Given the description of an element on the screen output the (x, y) to click on. 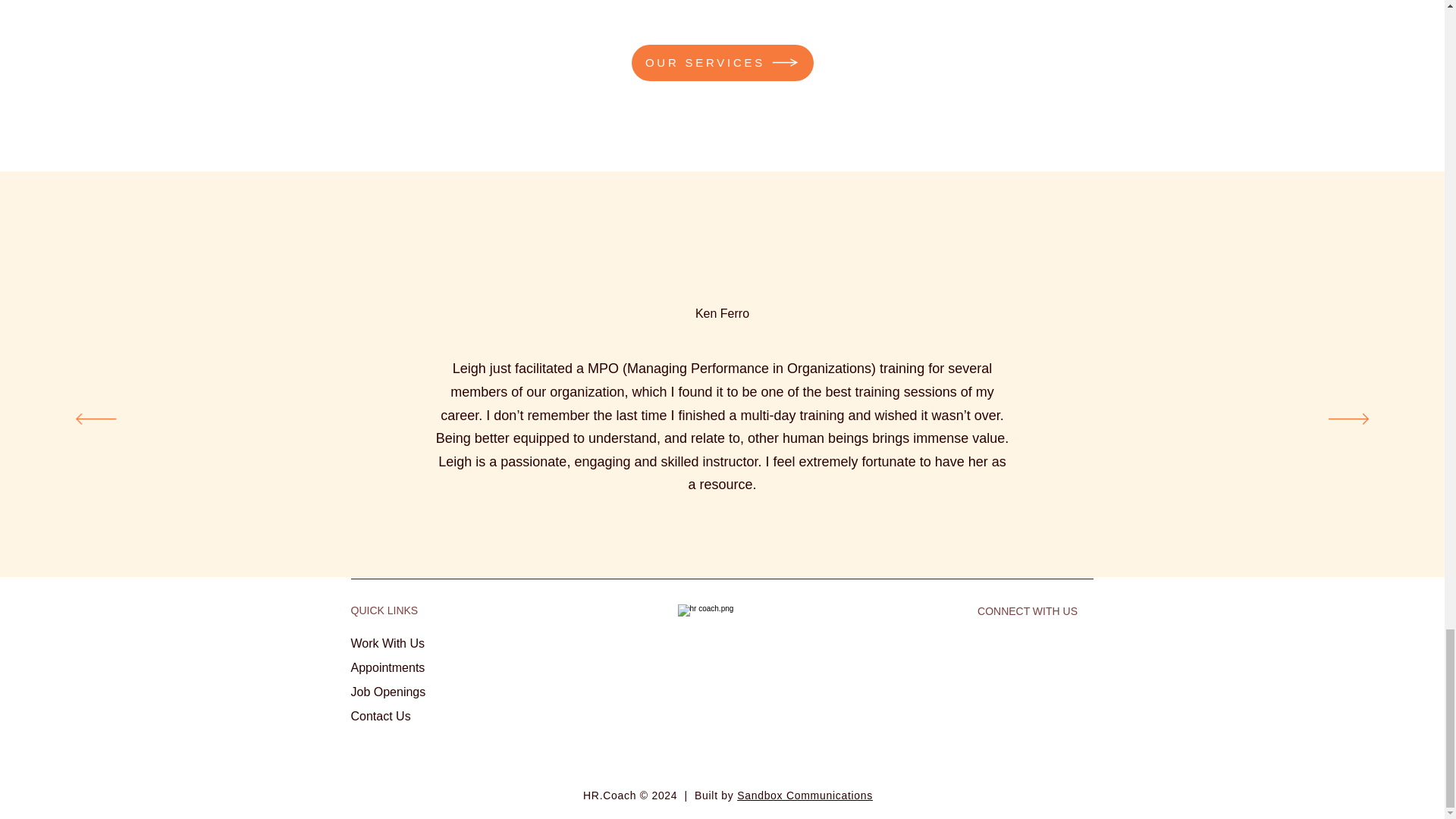
Contact Us (380, 716)
intments (401, 667)
Sandbox Communications (804, 795)
Appo (364, 667)
OUR SERVICES (721, 63)
Work With Us (386, 643)
Job Openings (387, 691)
